Given the description of an element on the screen output the (x, y) to click on. 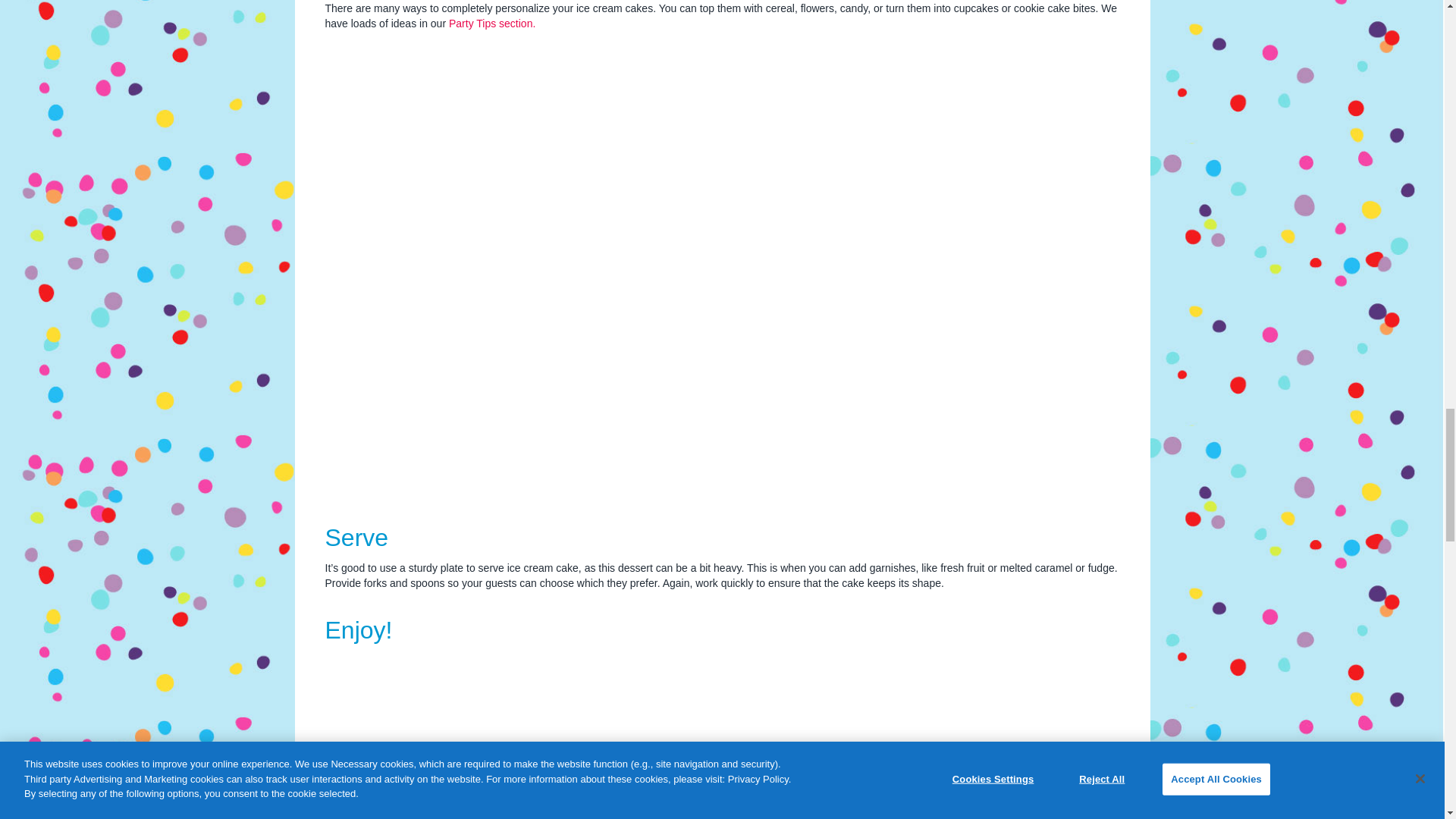
Party Tips section. (491, 23)
